Given the description of an element on the screen output the (x, y) to click on. 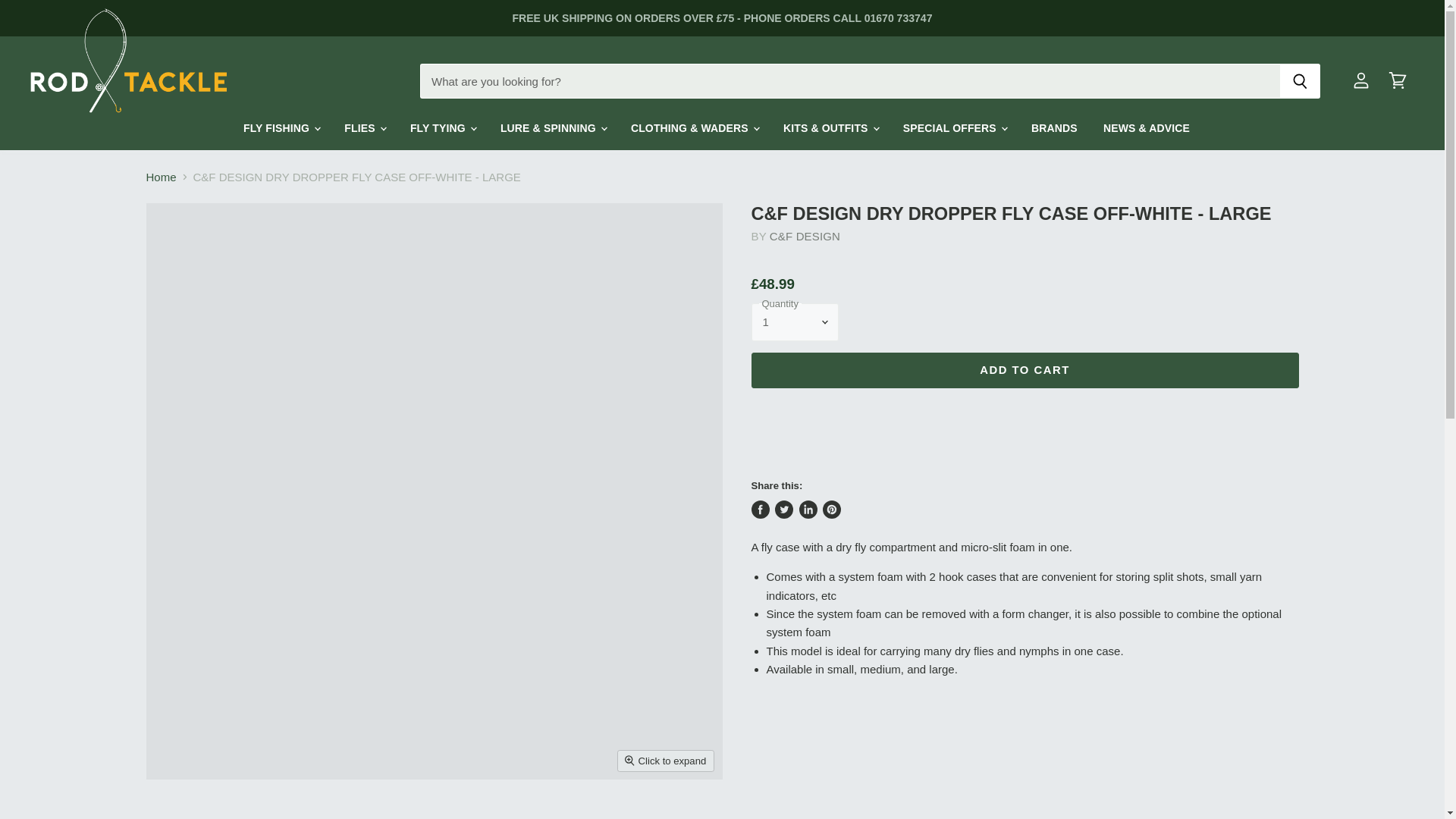
FLY FISHING (280, 128)
FLY TYING (442, 128)
FLIES (363, 128)
View cart (1397, 80)
